Given the description of an element on the screen output the (x, y) to click on. 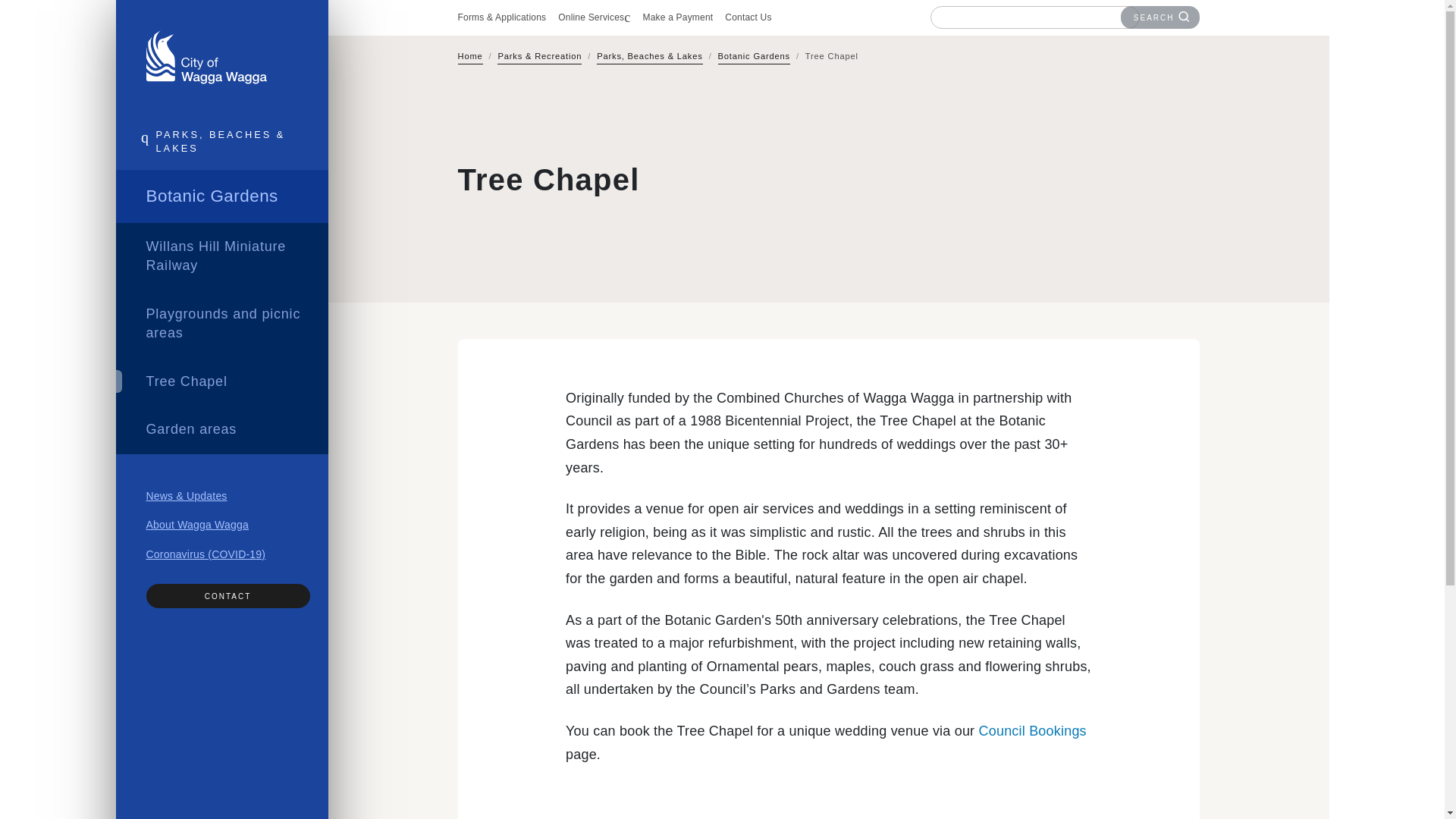
SEARCH (1160, 16)
SKIP TO CONTENT (1314, 43)
Botanic Gardens (753, 57)
Home (470, 57)
CONTACT (226, 595)
Contact Us (748, 17)
SKIP NAVIGATION (313, 43)
Playgrounds and picnic areas (221, 323)
Council Bookings (1032, 730)
Make a Payment (677, 17)
Botanic Gardens (221, 195)
Search query (1026, 16)
Willans Hill Miniature Railway (221, 256)
Online Services (593, 17)
Garden areas (221, 429)
